Given the description of an element on the screen output the (x, y) to click on. 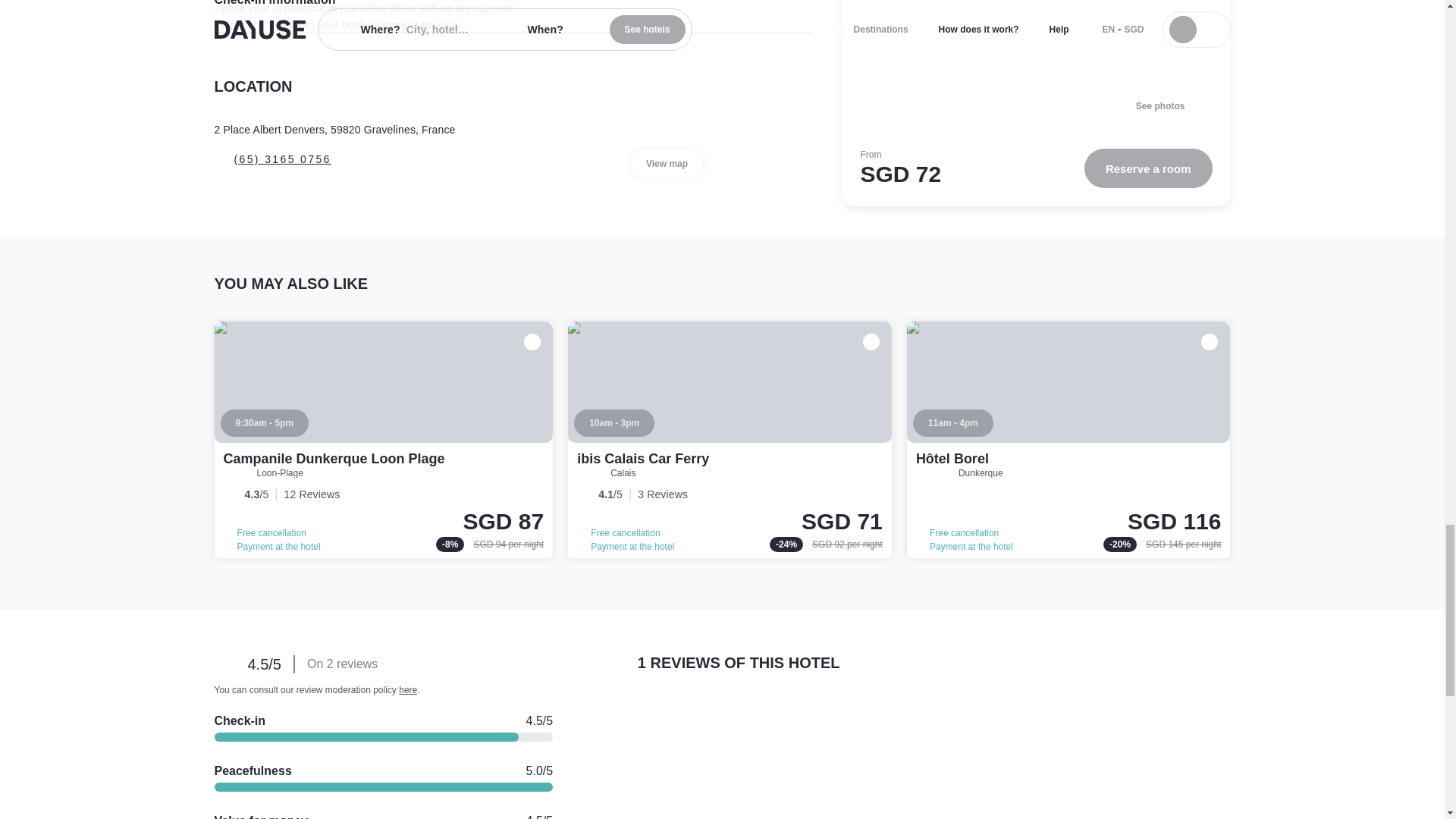
ibis Calais Car Ferry (729, 439)
ibis Calais Car Ferry (642, 458)
Campanile Dunkerque Loon Plage (383, 439)
Campanile Dunkerque Loon Plage (333, 458)
